Given the description of an element on the screen output the (x, y) to click on. 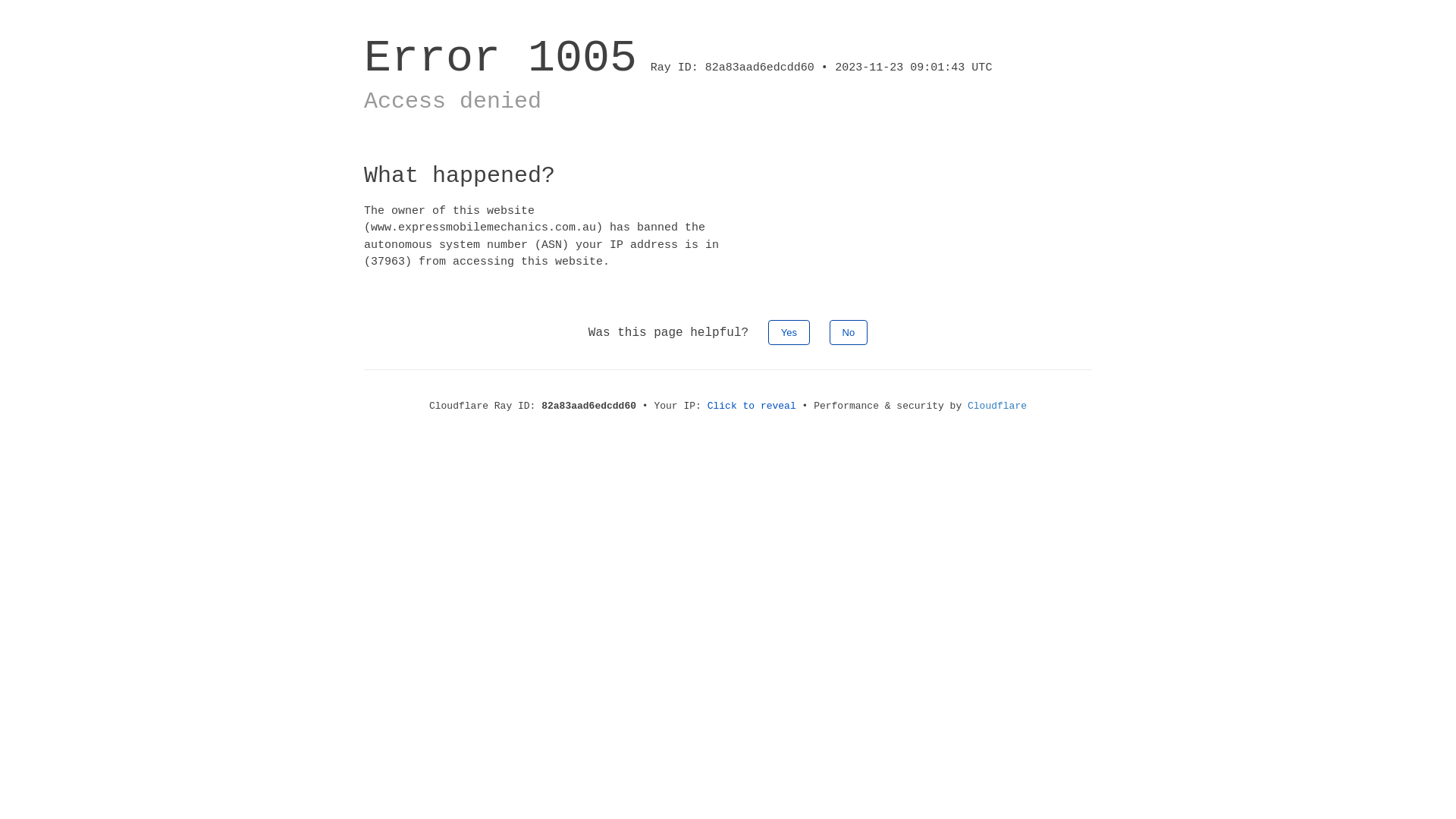
Yes Element type: text (788, 332)
No Element type: text (848, 332)
Click to reveal Element type: text (751, 405)
Cloudflare Element type: text (996, 405)
